Given the description of an element on the screen output the (x, y) to click on. 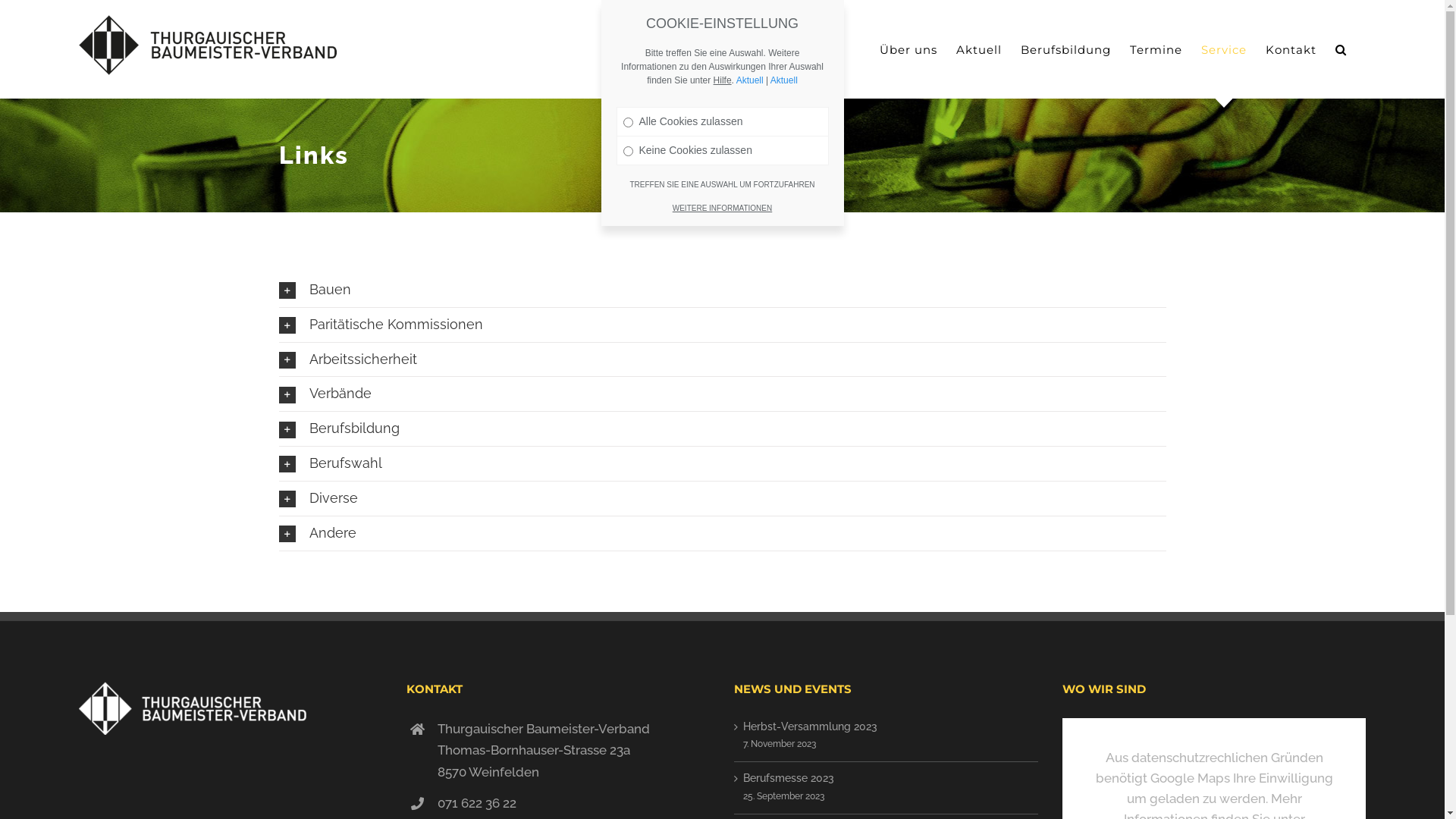
Berufsbildung Element type: text (722, 428)
Berufswahl Element type: text (722, 463)
Aktuell Element type: text (783, 80)
Kontakt Element type: text (1290, 49)
Andere Element type: text (722, 533)
Suche Element type: hover (1340, 49)
Arbeitssicherheit Element type: text (722, 359)
Herbst-Versammlung 2023 Element type: text (886, 727)
Aktuell Element type: text (749, 80)
Berufsmesse 2023 Element type: text (886, 778)
Service Element type: text (1223, 49)
Termine Element type: text (1155, 49)
Bauen Element type: text (722, 290)
Berufsbildung Element type: text (1065, 49)
Aktuell Element type: text (978, 49)
Diverse Element type: text (722, 498)
